Given the description of an element on the screen output the (x, y) to click on. 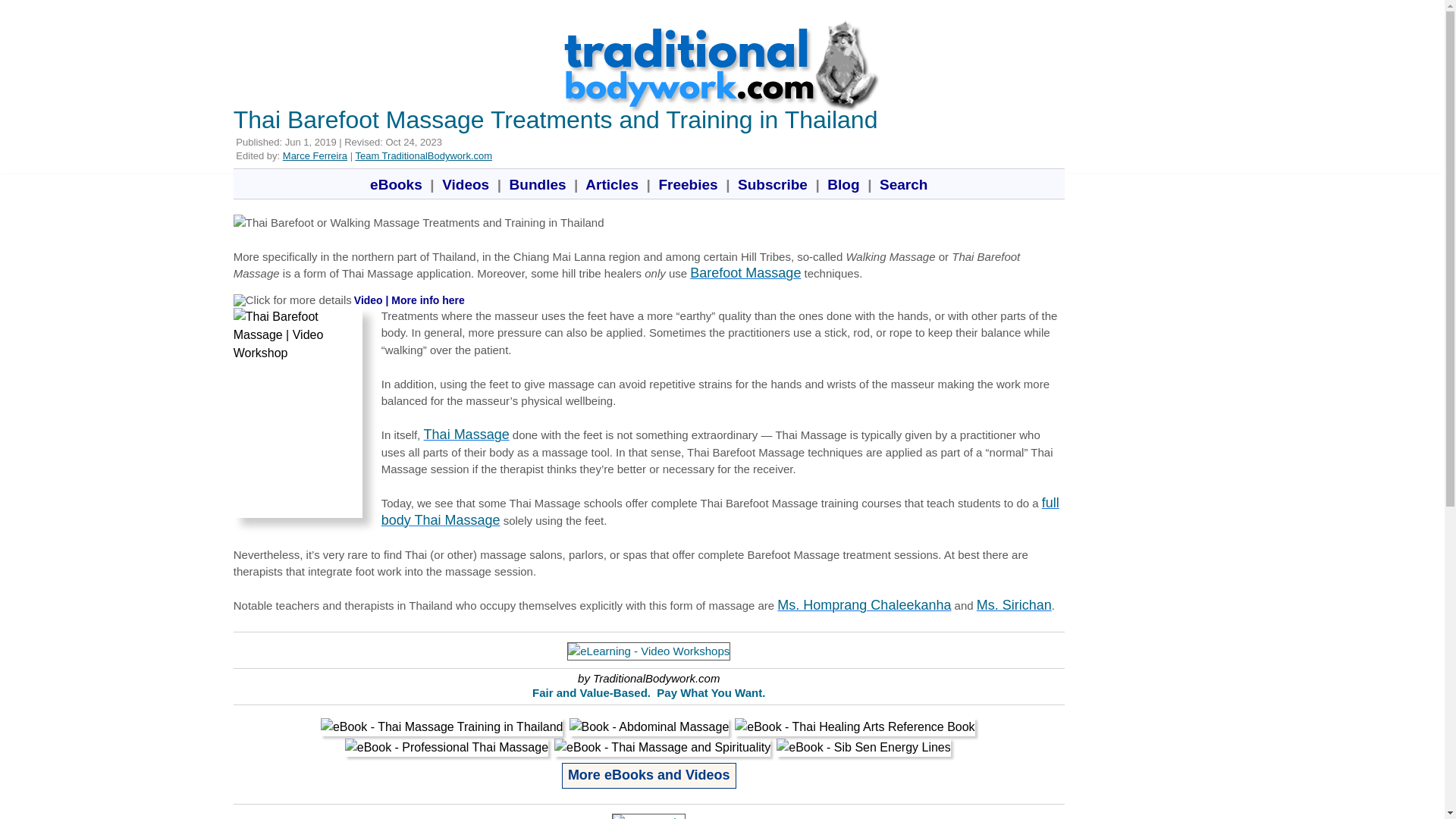
More eBooks and Videos (649, 774)
  Articles   (612, 184)
Team TraditionalBodywork.com (423, 155)
Marce Ferreira (314, 155)
Thai Massage (466, 434)
eBook - Thai Massage and Spirituality (662, 747)
eBook - Thai Massage Training in Thailand (441, 727)
  Blog   (843, 184)
Click for more details (292, 300)
Book - Abdominal Massage (649, 727)
